Given the description of an element on the screen output the (x, y) to click on. 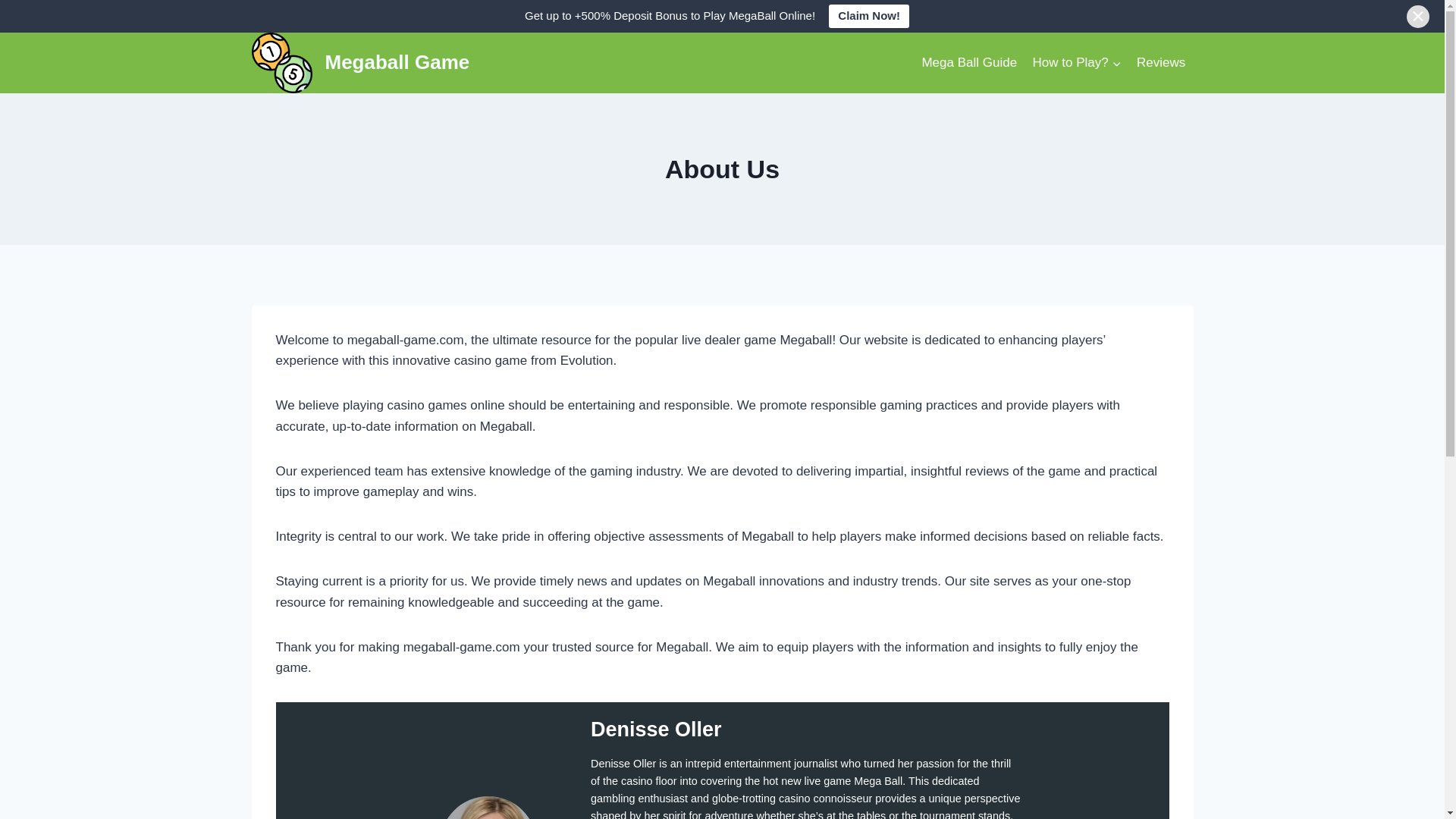
Claim Now! (868, 15)
Megaball Game (360, 62)
Mega Ball Guide (969, 63)
Reviews (1161, 63)
How to Play? (1077, 63)
